Given the description of an element on the screen output the (x, y) to click on. 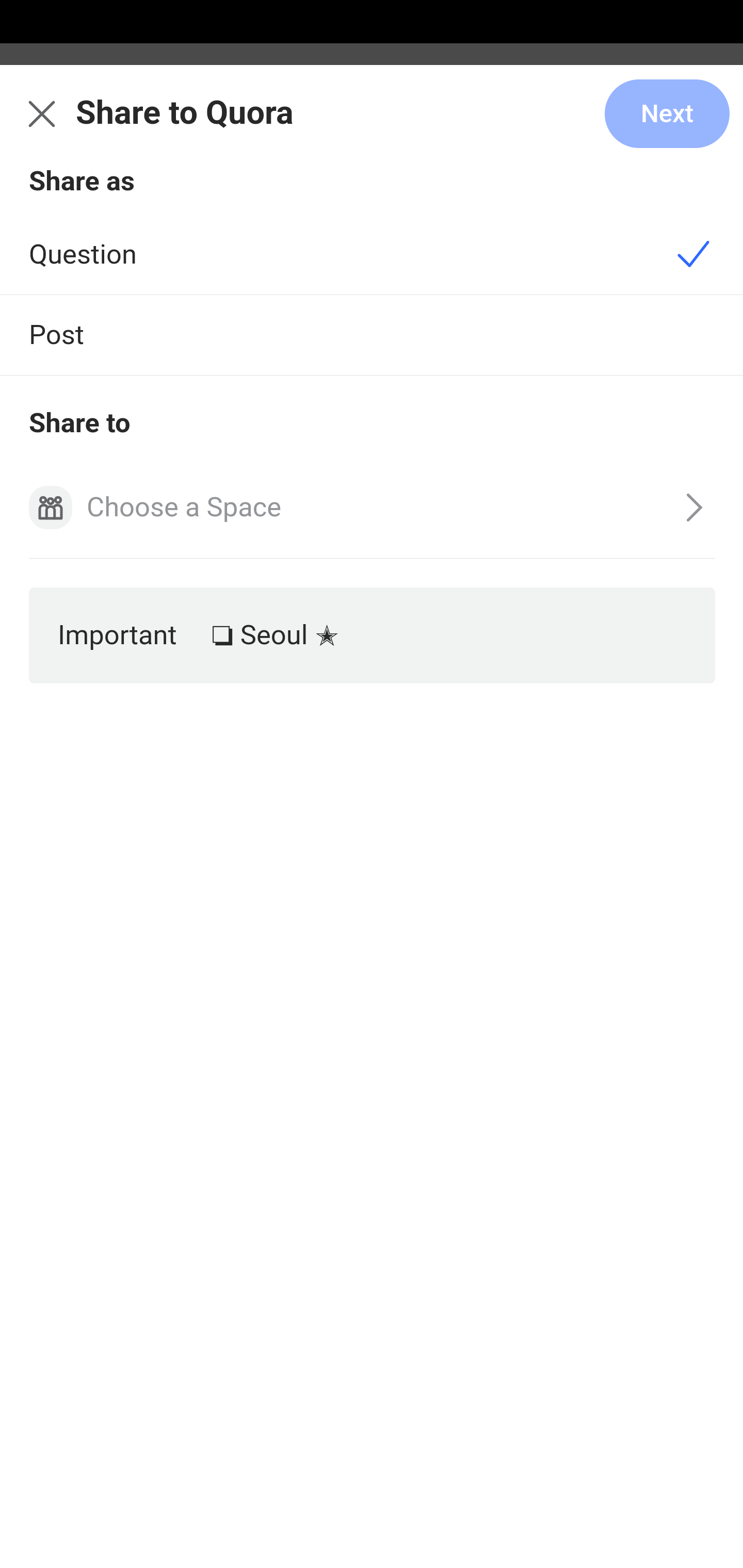
Me Home Search Add (371, 125)
Me (64, 125)
Ask (116, 278)
Hide (709, 493)
Icon for Dune (50, 508)
